Given the description of an element on the screen output the (x, y) to click on. 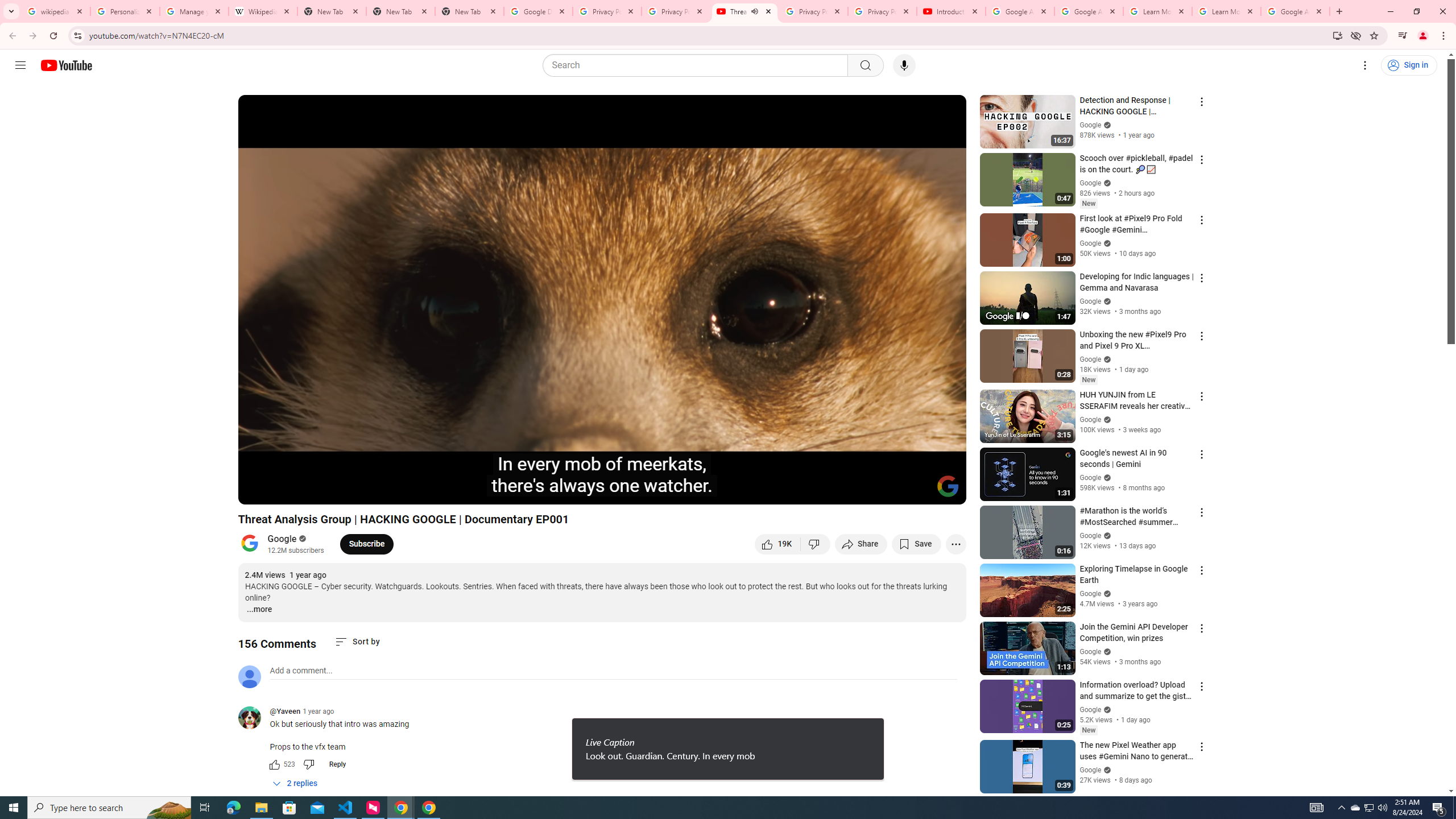
...more (259, 609)
Personalization & Google Search results - Google Search Help (124, 11)
New (1087, 729)
Subtitles/closed captions unavailable (836, 490)
1 year ago (318, 710)
Seek slider (601, 476)
@Yaveen (253, 717)
